Given the description of an element on the screen output the (x, y) to click on. 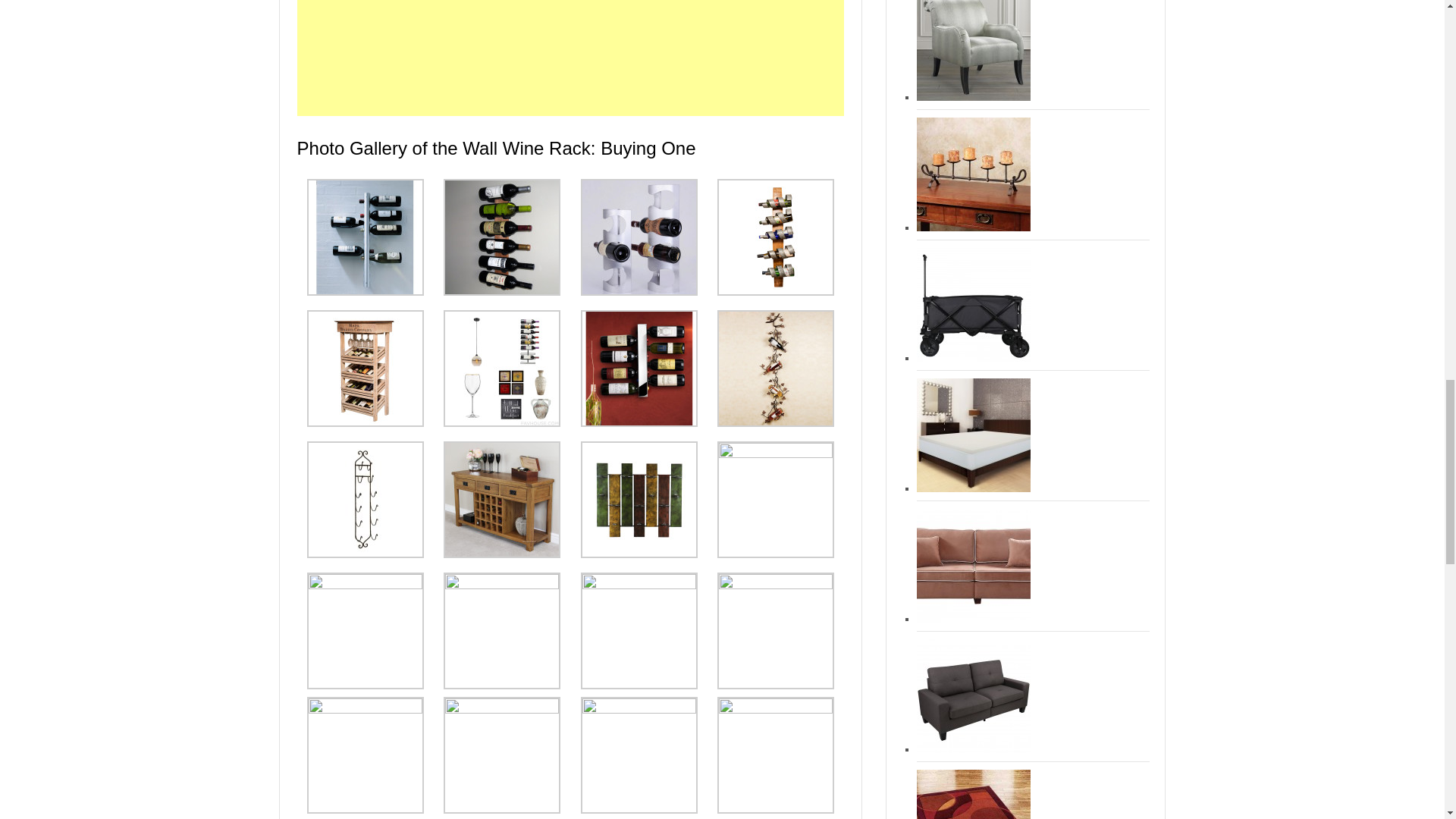
Table Top Candelabra (973, 173)
Utility Wagon Cart (973, 304)
Comfy Accent Chairs (973, 50)
